Given the description of an element on the screen output the (x, y) to click on. 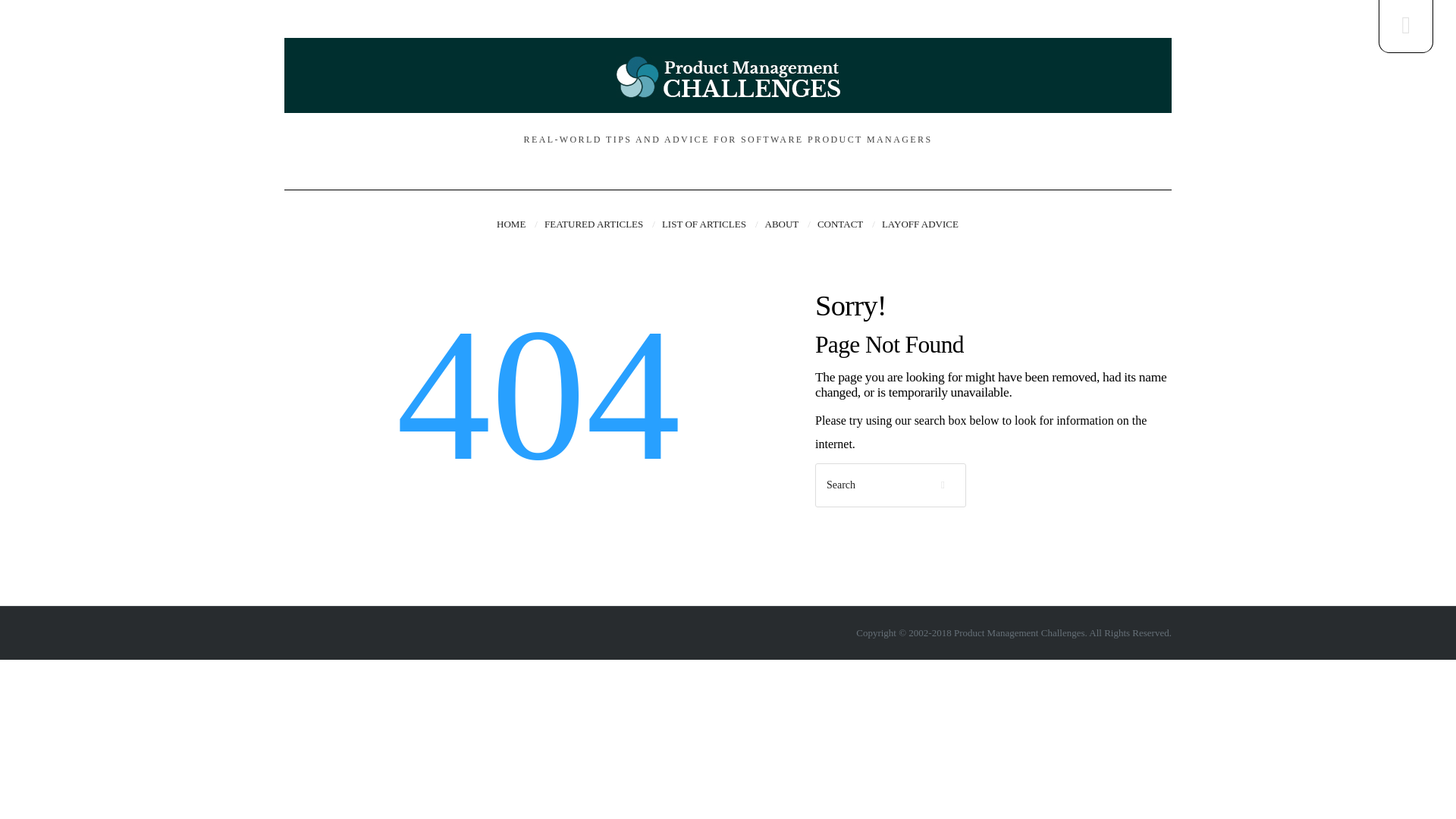
FEATURED ARTICLES (599, 224)
LAYOFF ADVICE (919, 224)
LIST OF ARTICLES (710, 224)
Real-World Tips and Advice for Software Product Managers (727, 76)
